Given the description of an element on the screen output the (x, y) to click on. 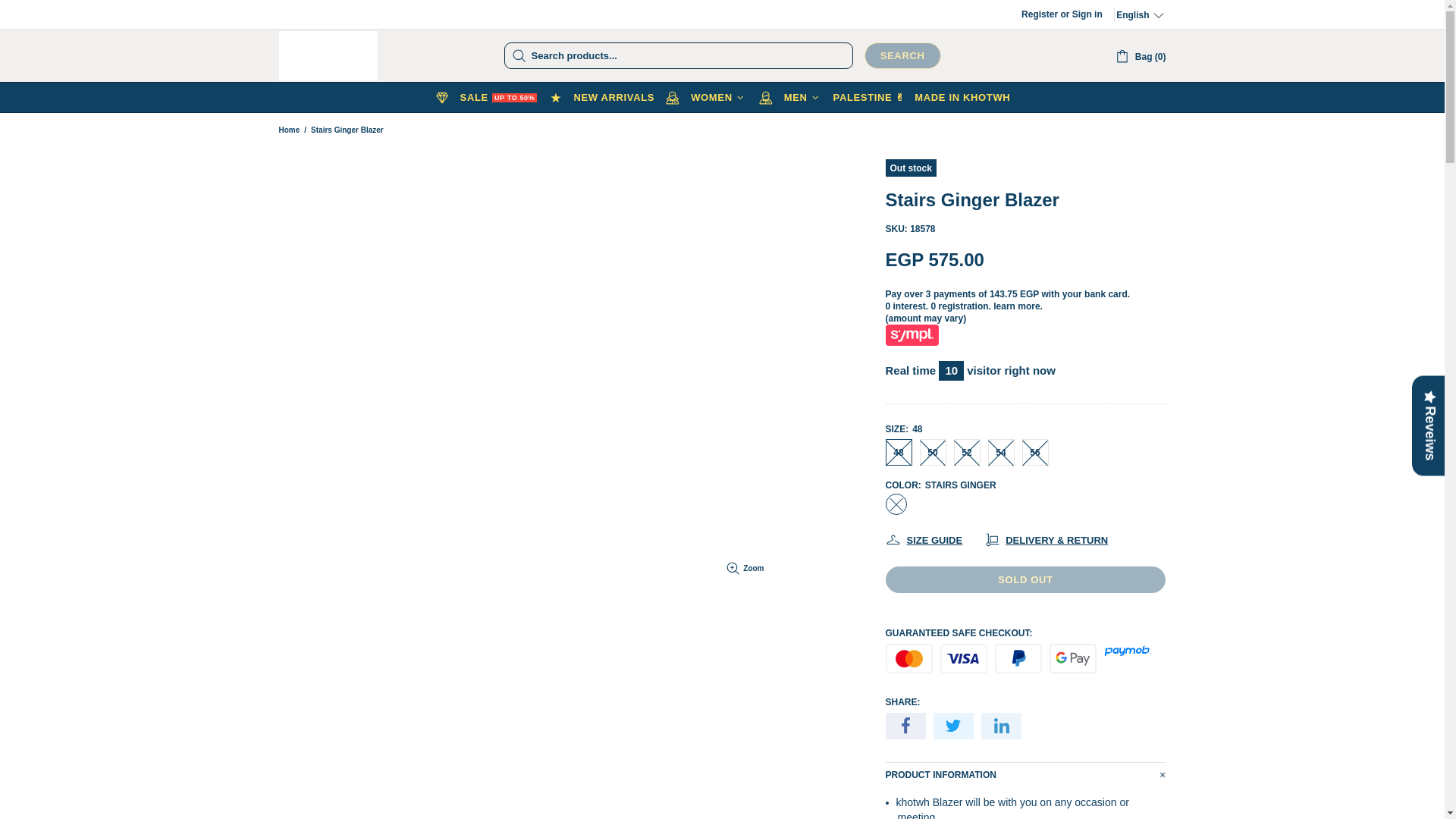
SEARCH (902, 55)
Sign in (1086, 14)
Register (1040, 14)
Khotwh (328, 55)
WOMEN (705, 97)
NEW ARRIVALS (600, 97)
